Given the description of an element on the screen output the (x, y) to click on. 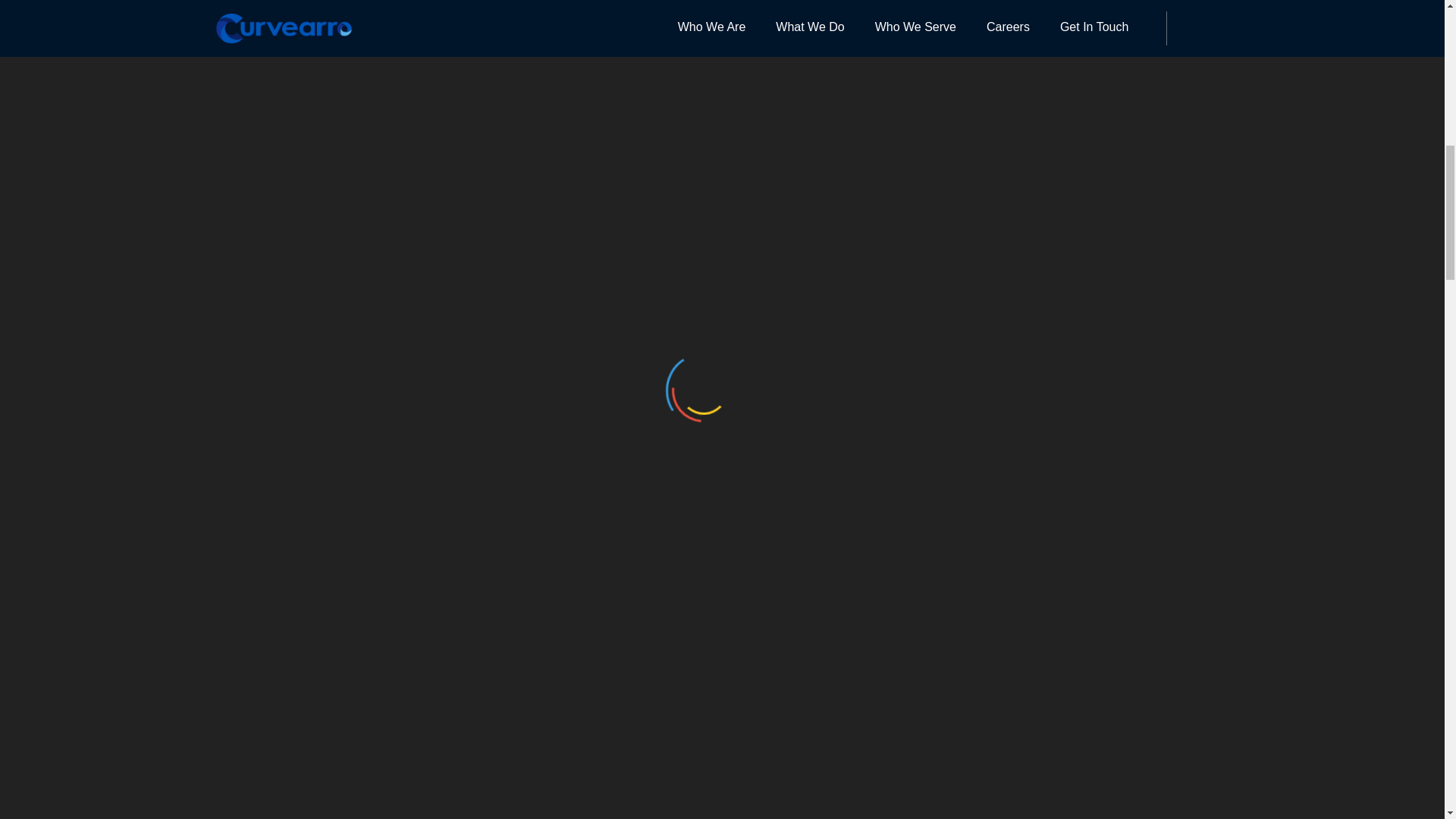
Pros and Cons of Digital Marketing: A Comprehensive Analysis (1085, 421)
Why Is Competitor Research Important? (1085, 294)
Top 5 Benefits of Creating Engaging Content (1085, 490)
10 Tips for Optimizing Your Social Media Dashboard (1085, 100)
35 Steps To Mastering Digital Marketing (1085, 43)
Top benefits of digital marketing strategies for Restaurants (1085, 169)
digital marketing (436, 621)
Exploring the Top Advantages and Disadvantages of SMO (1085, 352)
A Comprehensive Guide to YouTube for Business Marketing (1085, 238)
